Given the description of an element on the screen output the (x, y) to click on. 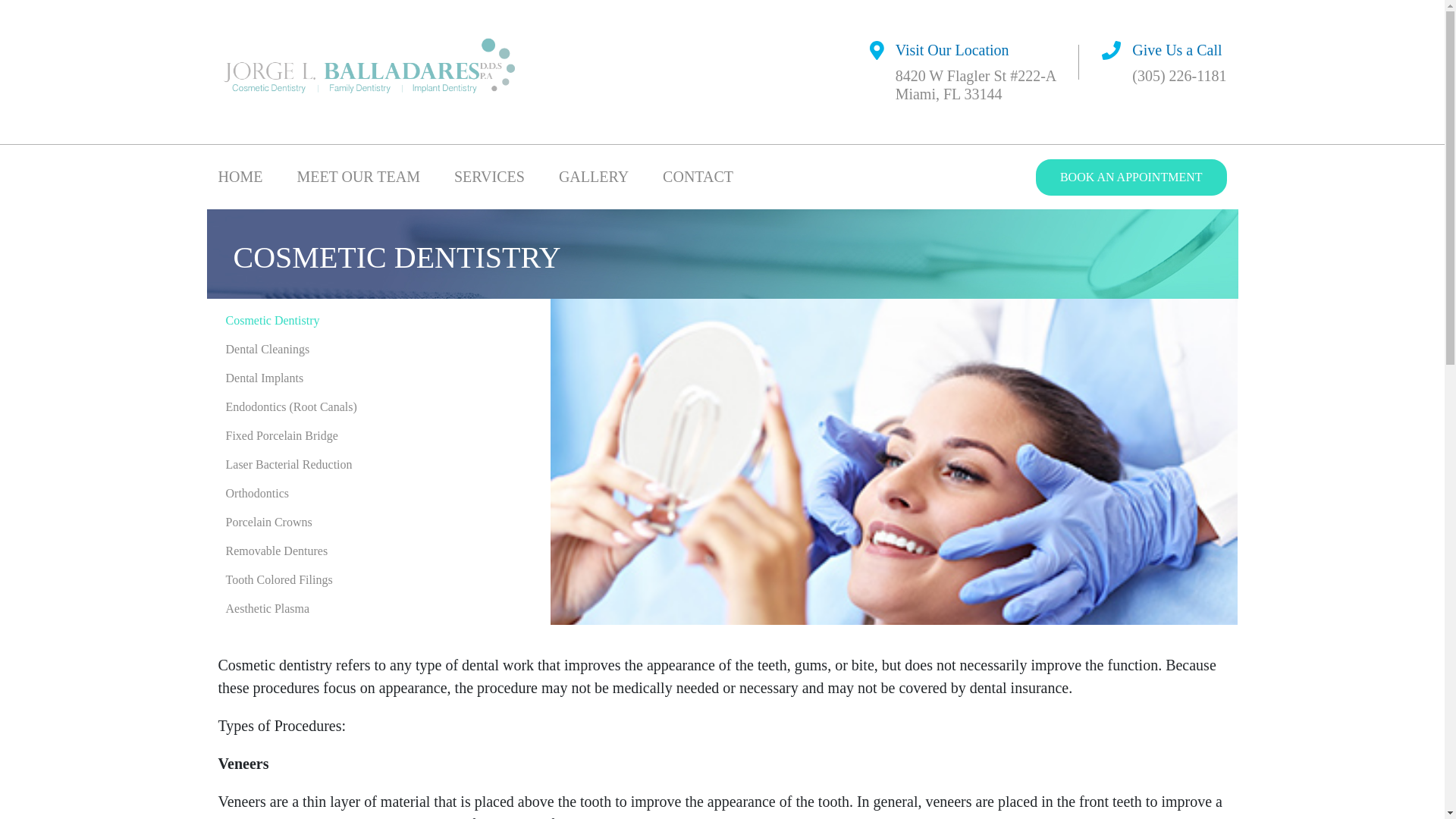
Removable Dentures (378, 551)
CONTACT (697, 176)
HOME (240, 176)
BOOK AN APPOINTMENT (1131, 176)
Cosmetic Dentistry (378, 320)
Aesthetic Plasma (378, 608)
SERVICES (489, 176)
Orthodontics (378, 493)
Laser Bacterial Reduction (378, 464)
Dental Implants (378, 378)
Porcelain Crowns (378, 522)
Tooth Colored Filings (378, 579)
MEET OUR TEAM (358, 176)
GALLERY (593, 176)
Fixed Porcelain Bridge (378, 435)
